Given the description of an element on the screen output the (x, y) to click on. 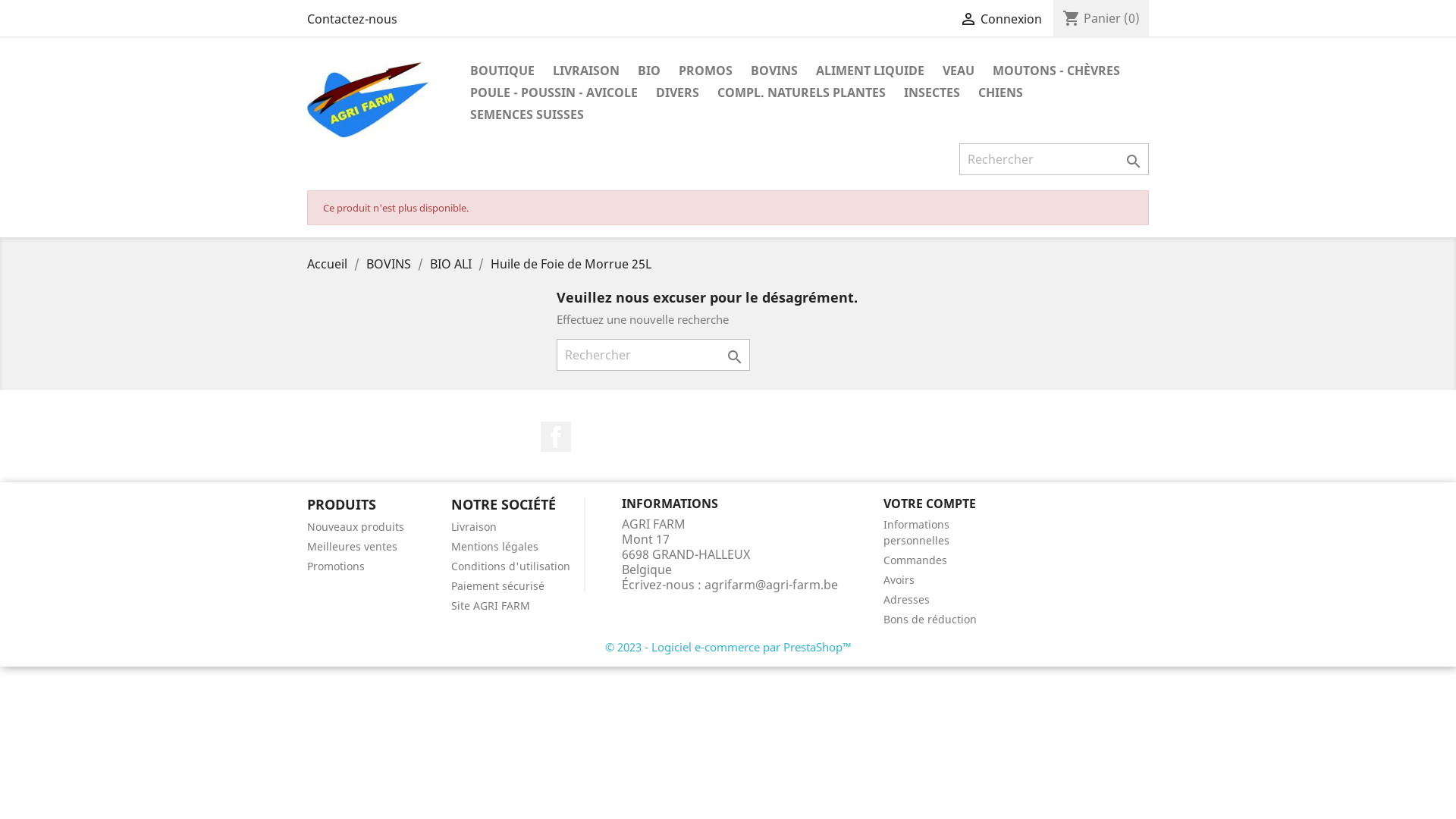
ALIMENT LIQUIDE Element type: text (869, 71)
Nouveaux produits Element type: text (355, 526)
INSECTES Element type: text (931, 93)
Commandes Element type: text (915, 559)
Informations personnelles Element type: text (916, 532)
Accueil Element type: text (328, 263)
SEMENCES SUISSES Element type: text (526, 115)
Promotions Element type: text (335, 565)
COMPL. NATURELS PLANTES Element type: text (801, 93)
DIVERS Element type: text (677, 93)
agrifarm@agri-farm.be Element type: text (770, 584)
BIO ALI Element type: text (451, 263)
Adresses Element type: text (906, 599)
Meilleures ventes Element type: text (352, 546)
Facebook Element type: text (555, 436)
POULE - POUSSIN - AVICOLE Element type: text (553, 93)
BOVINS Element type: text (774, 71)
VOTRE COMPTE Element type: text (929, 503)
LIVRAISON Element type: text (586, 71)
Avoirs Element type: text (898, 579)
Conditions d'utilisation Element type: text (510, 565)
BIO Element type: text (649, 71)
BOUTIQUE Element type: text (502, 71)
Livraison Element type: text (473, 526)
PROMOS Element type: text (705, 71)
Contactez-nous Element type: text (352, 18)
Huile de Foie de Morrue 25L Element type: text (570, 263)
Site AGRI FARM Element type: text (490, 605)
BOVINS Element type: text (390, 263)
CHIENS Element type: text (1000, 93)
VEAU Element type: text (958, 71)
